Given the description of an element on the screen output the (x, y) to click on. 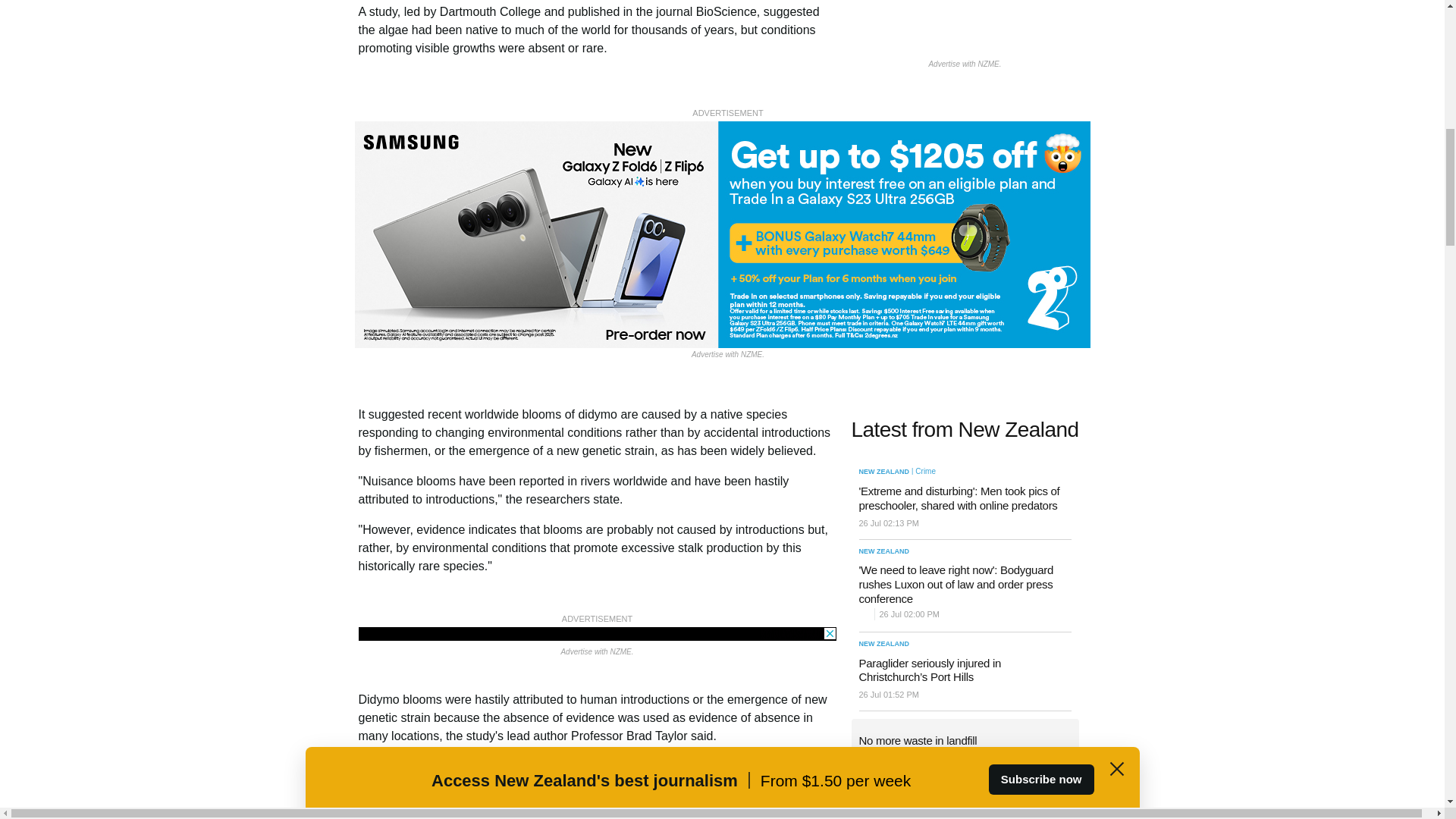
3rd party ad content (964, 816)
3rd party ad content (596, 633)
